Given the description of an element on the screen output the (x, y) to click on. 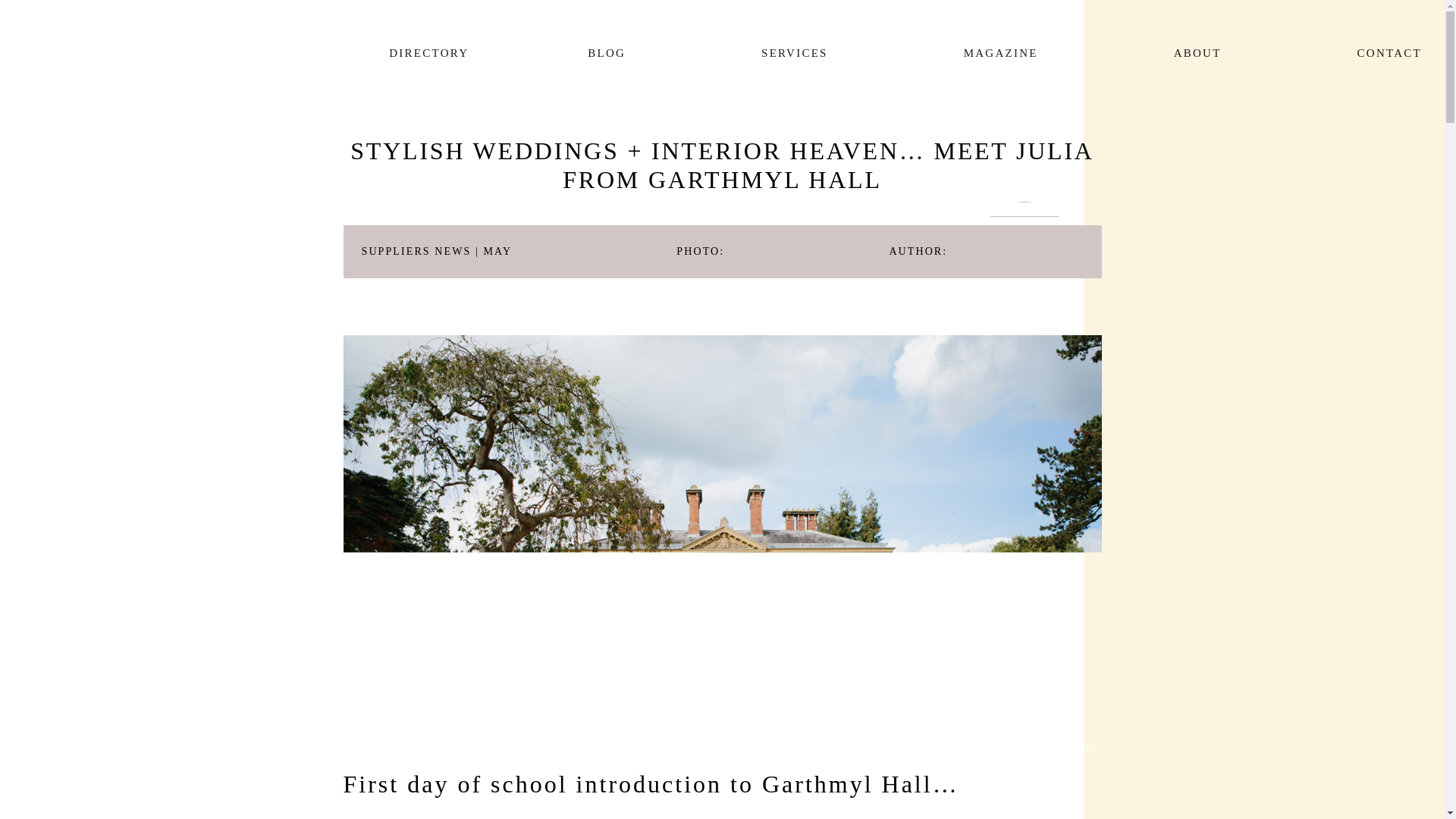
SERVICES (794, 53)
BLOG (606, 53)
Unique Rebels Union (121, 52)
ABOUT (1198, 53)
MAGAZINE (1000, 53)
CONTACT (1381, 53)
DIRECTORY (420, 53)
SUPPLIERS NEWS (415, 251)
